Given the description of an element on the screen output the (x, y) to click on. 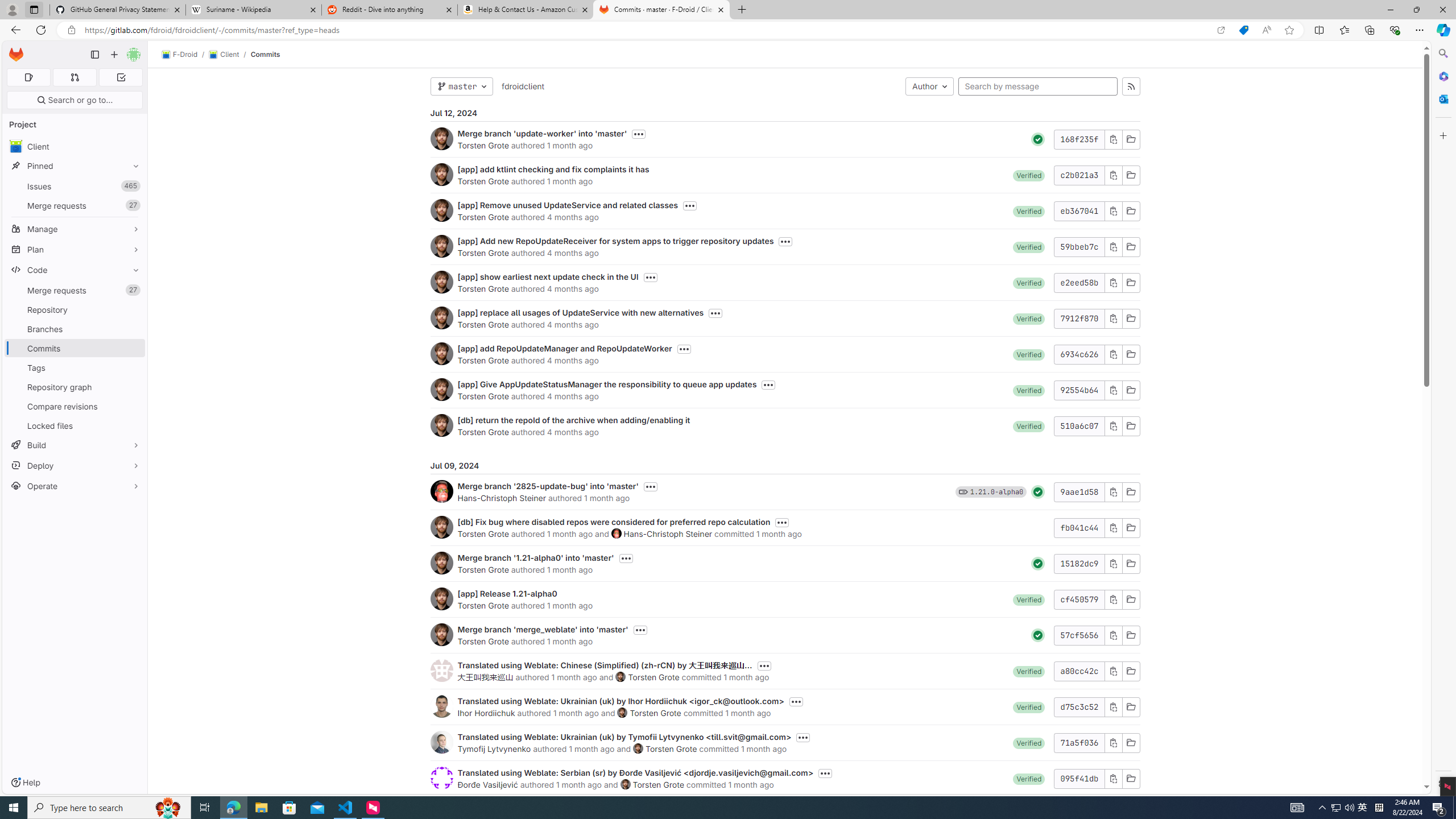
Plan (74, 248)
Merge branch '1.21-alpha0' into 'master' (535, 557)
Tab actions menu (33, 9)
fdroidclient (522, 85)
Client (223, 54)
Deploy (74, 465)
Pin Branches (132, 328)
Tags (74, 367)
Skip to main content (13, 49)
Verified (1029, 778)
Hans-Christoph Steiner's avatar (616, 533)
